Given the description of an element on the screen output the (x, y) to click on. 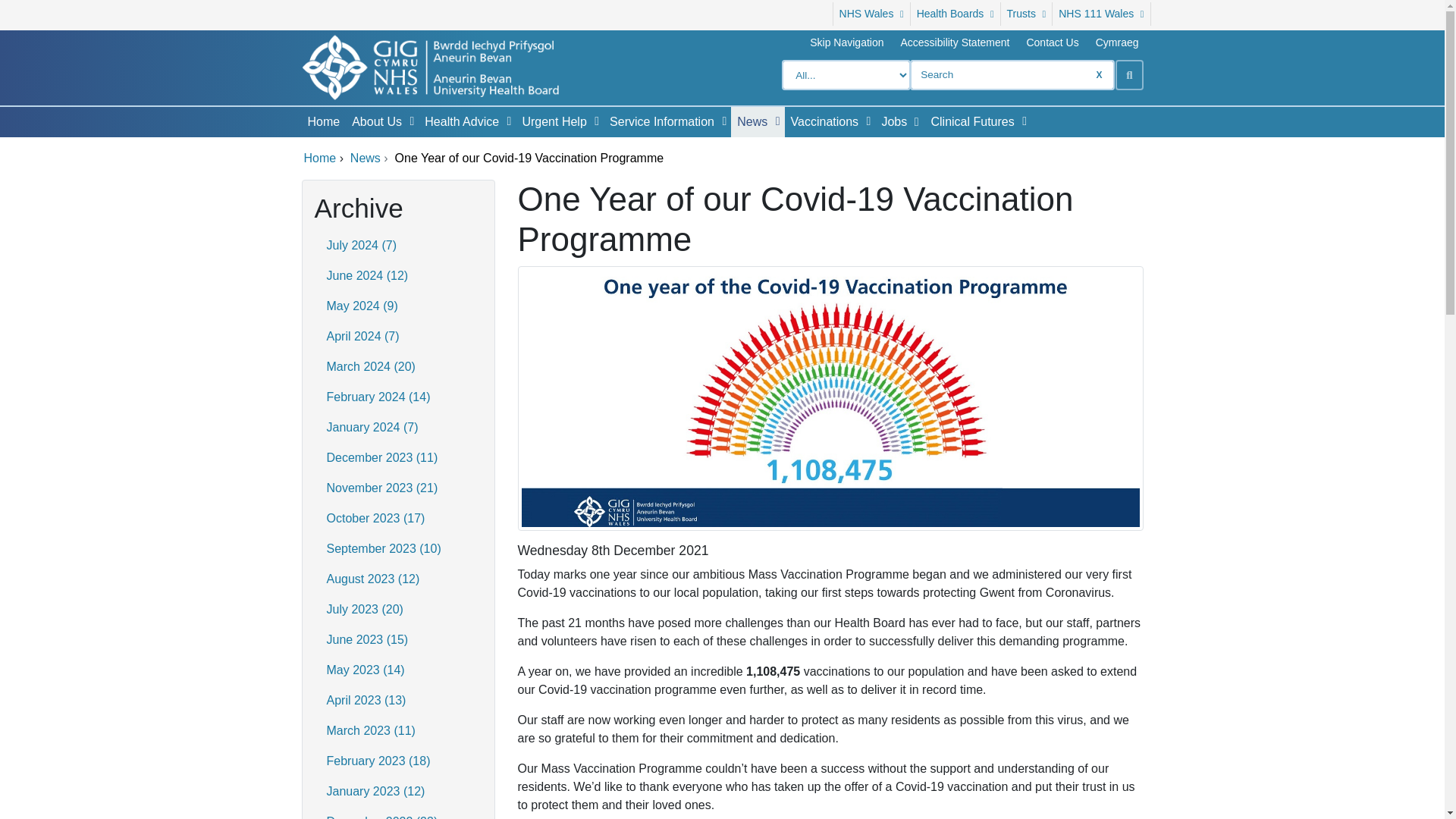
Home (323, 122)
About Us (373, 122)
Search (1128, 74)
Cymraeg (1117, 42)
NHS 111 Wales (1101, 13)
NHS Wales (871, 13)
Show Submenu For About Us (411, 120)
Contact Us (1051, 42)
Accessibility Statement (955, 42)
Health Advice (459, 122)
Health Boards (955, 13)
Trusts (1026, 13)
Skip Navigation (846, 42)
